Given the description of an element on the screen output the (x, y) to click on. 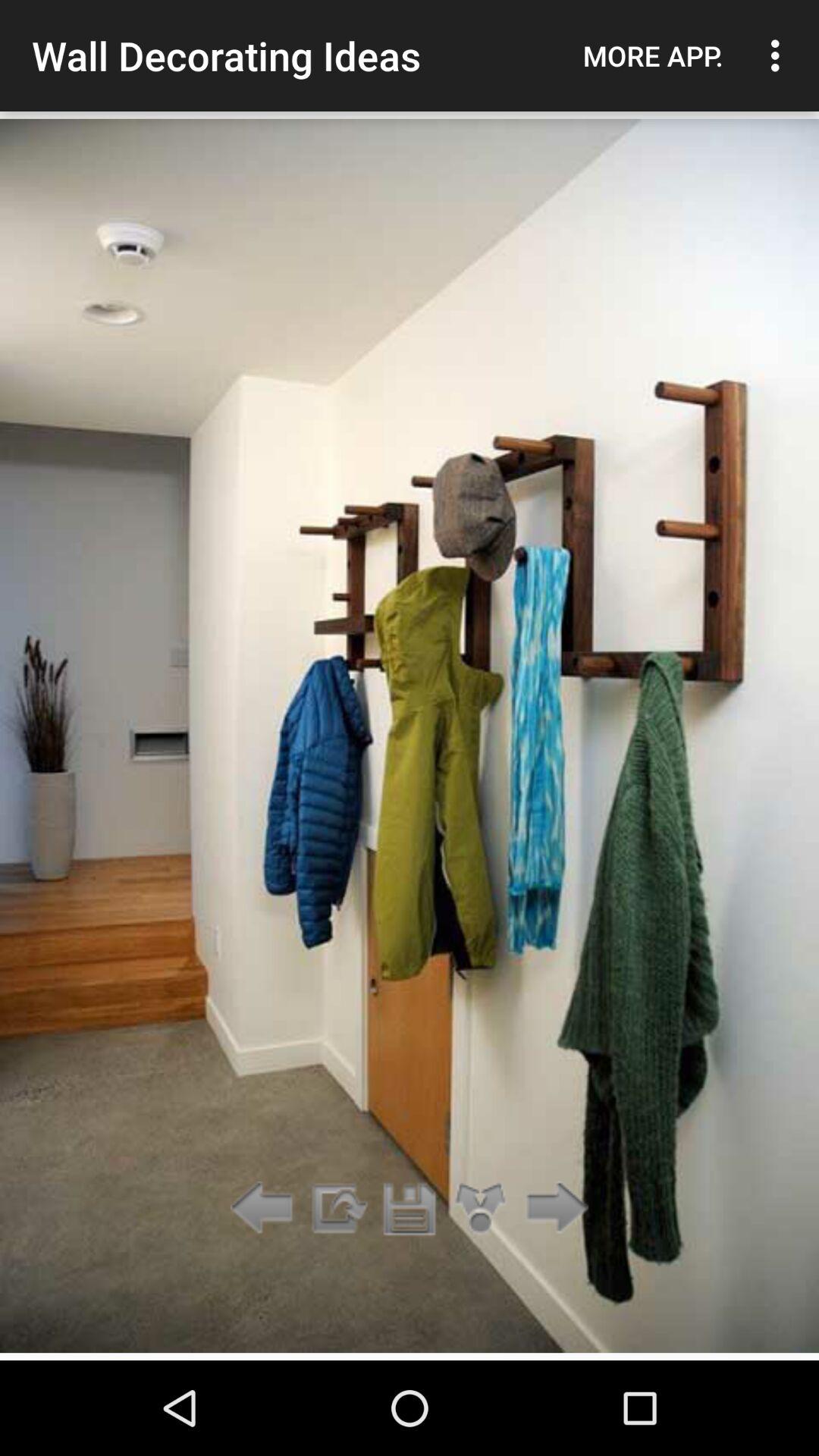
select the app below the wall decorating ideas item (409, 1208)
